Given the description of an element on the screen output the (x, y) to click on. 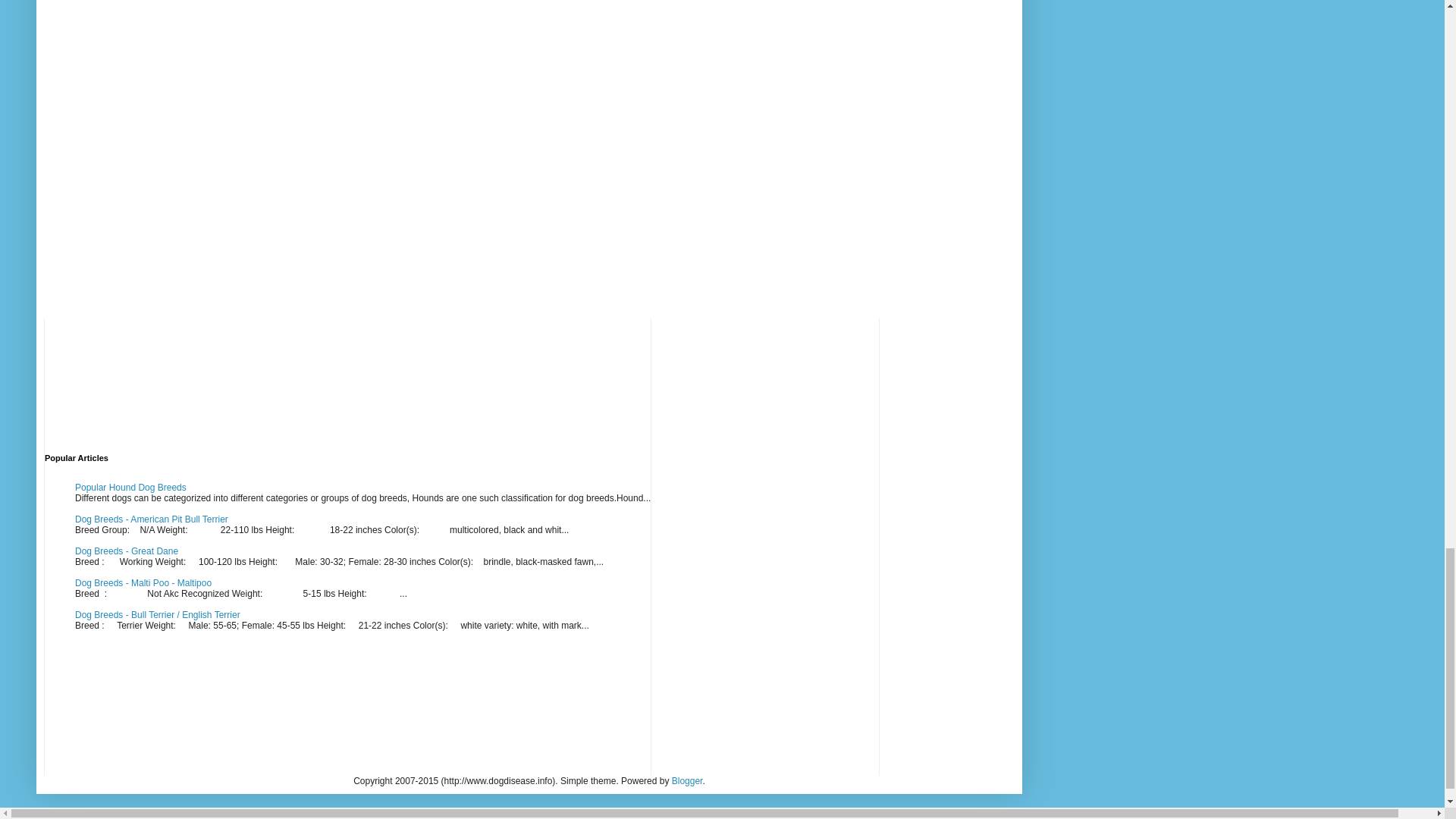
Popular Hound Dog Breeds (130, 487)
Blogger (687, 780)
Dog Breeds - Malti Poo - Maltipoo (143, 583)
Dog Breeds - Great Dane (126, 551)
Dog Breeds - American Pit Bull Terrier (151, 519)
